Given the description of an element on the screen output the (x, y) to click on. 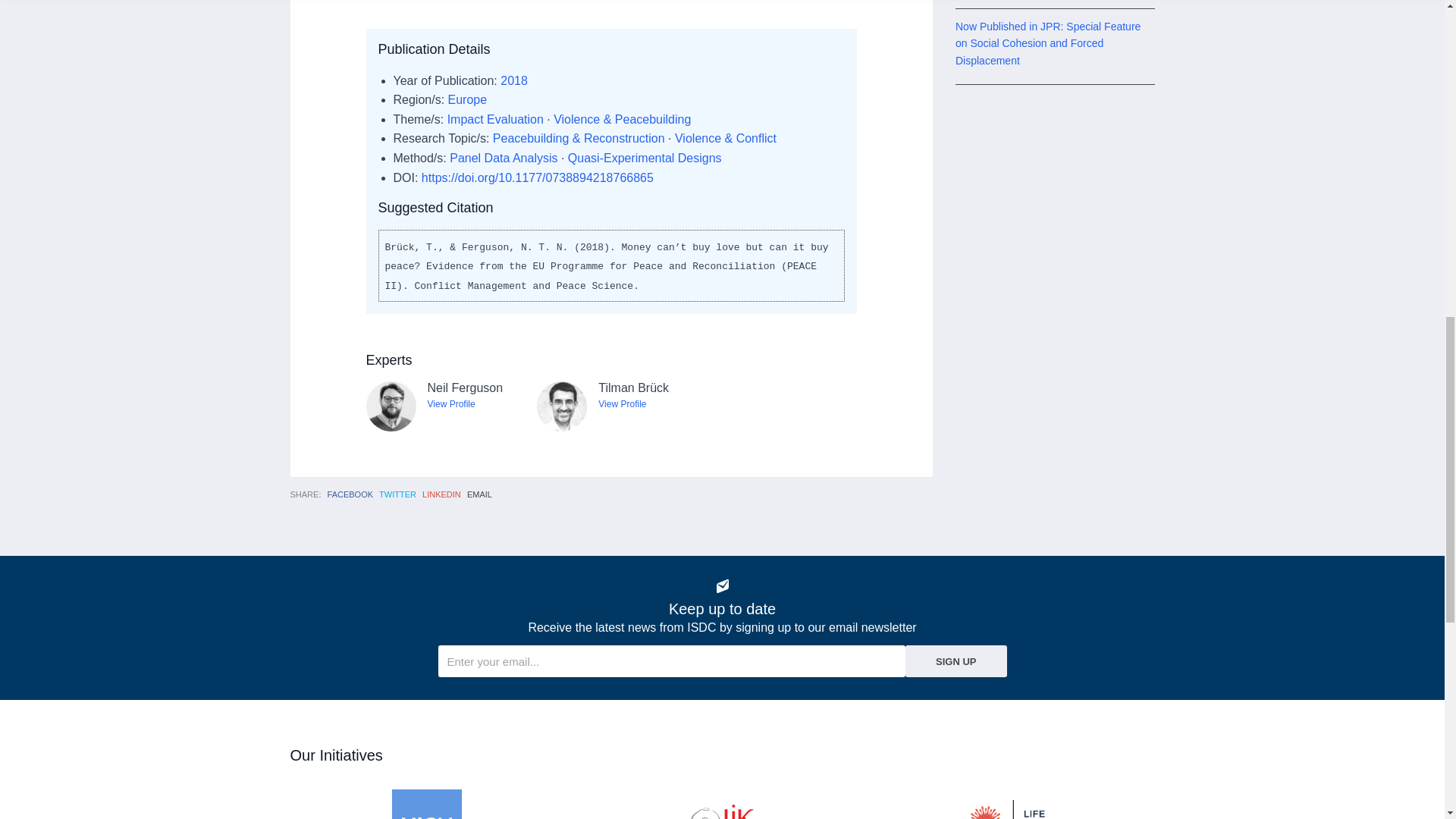
Europe (467, 99)
FACEBOOK (350, 493)
View Profile (622, 403)
2018 (513, 80)
LINKEDIN (441, 493)
Quasi-Experimental Designs (644, 157)
Impact Evaluation (494, 119)
View Profile (452, 403)
TWITTER (397, 493)
Panel Data Analysis (503, 157)
